Given the description of an element on the screen output the (x, y) to click on. 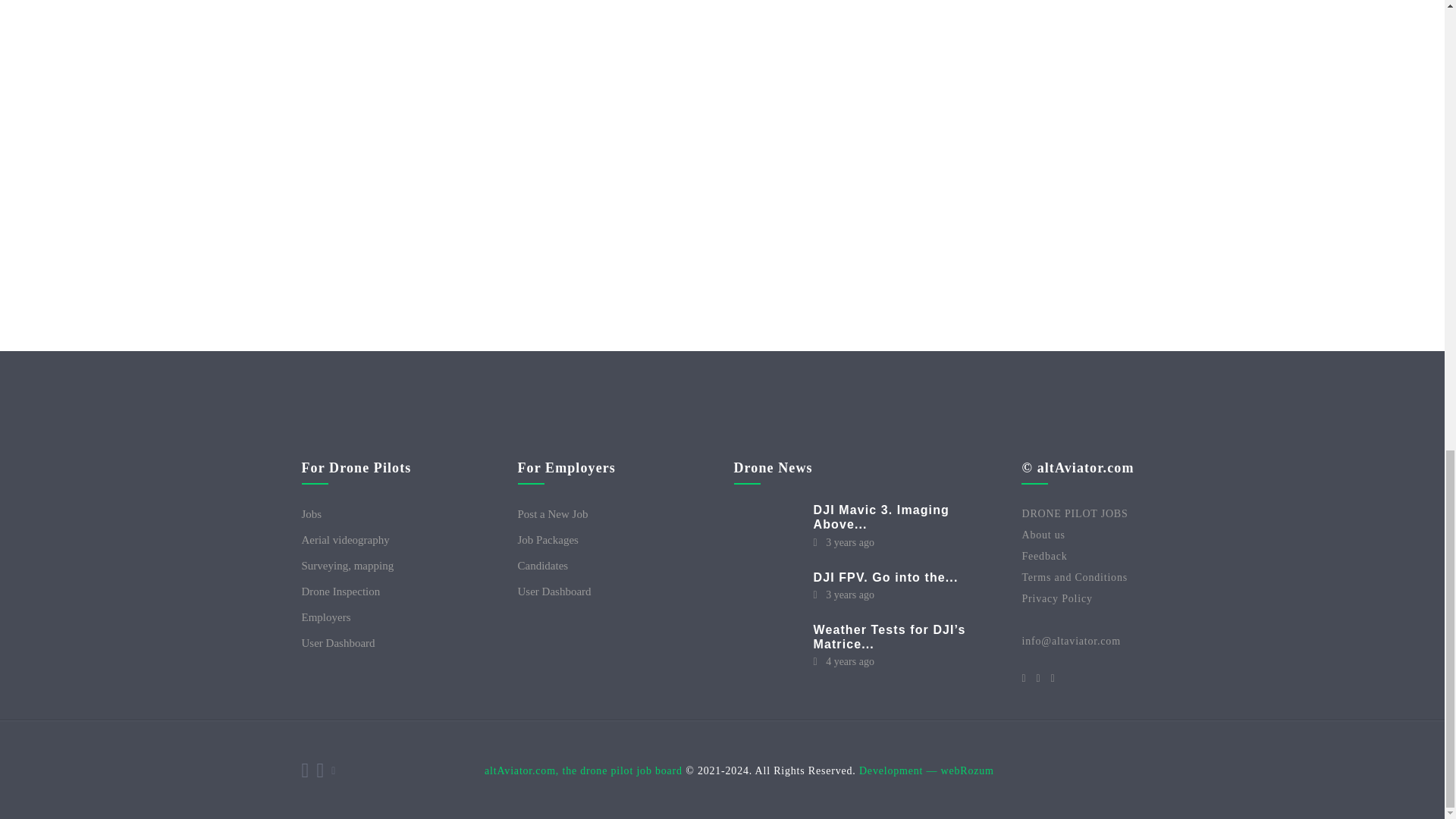
Aerial videography (398, 539)
Jobs (398, 513)
